Given the description of an element on the screen output the (x, y) to click on. 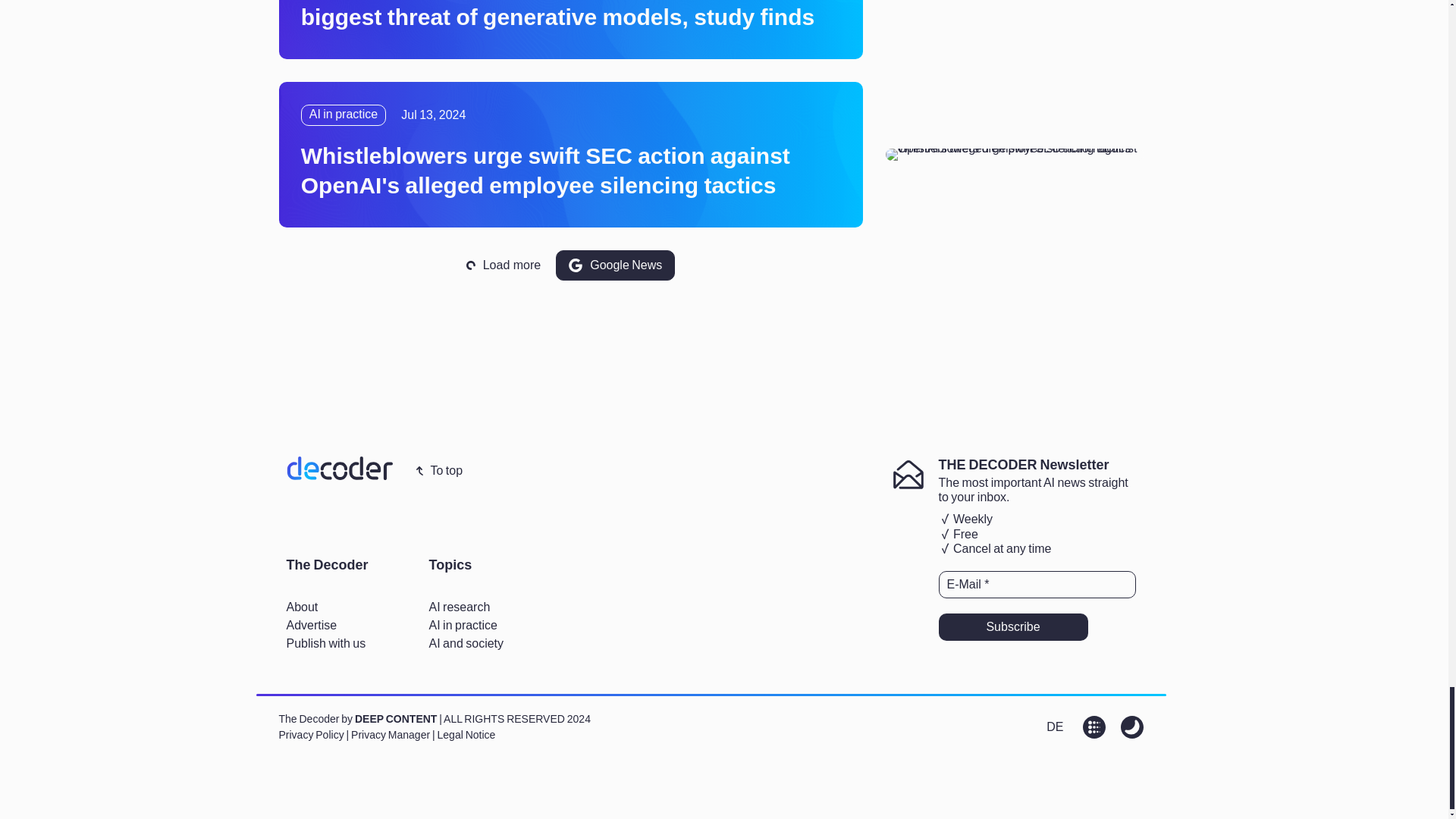
Subscribe (1013, 626)
E-Mail (1037, 584)
